Given the description of an element on the screen output the (x, y) to click on. 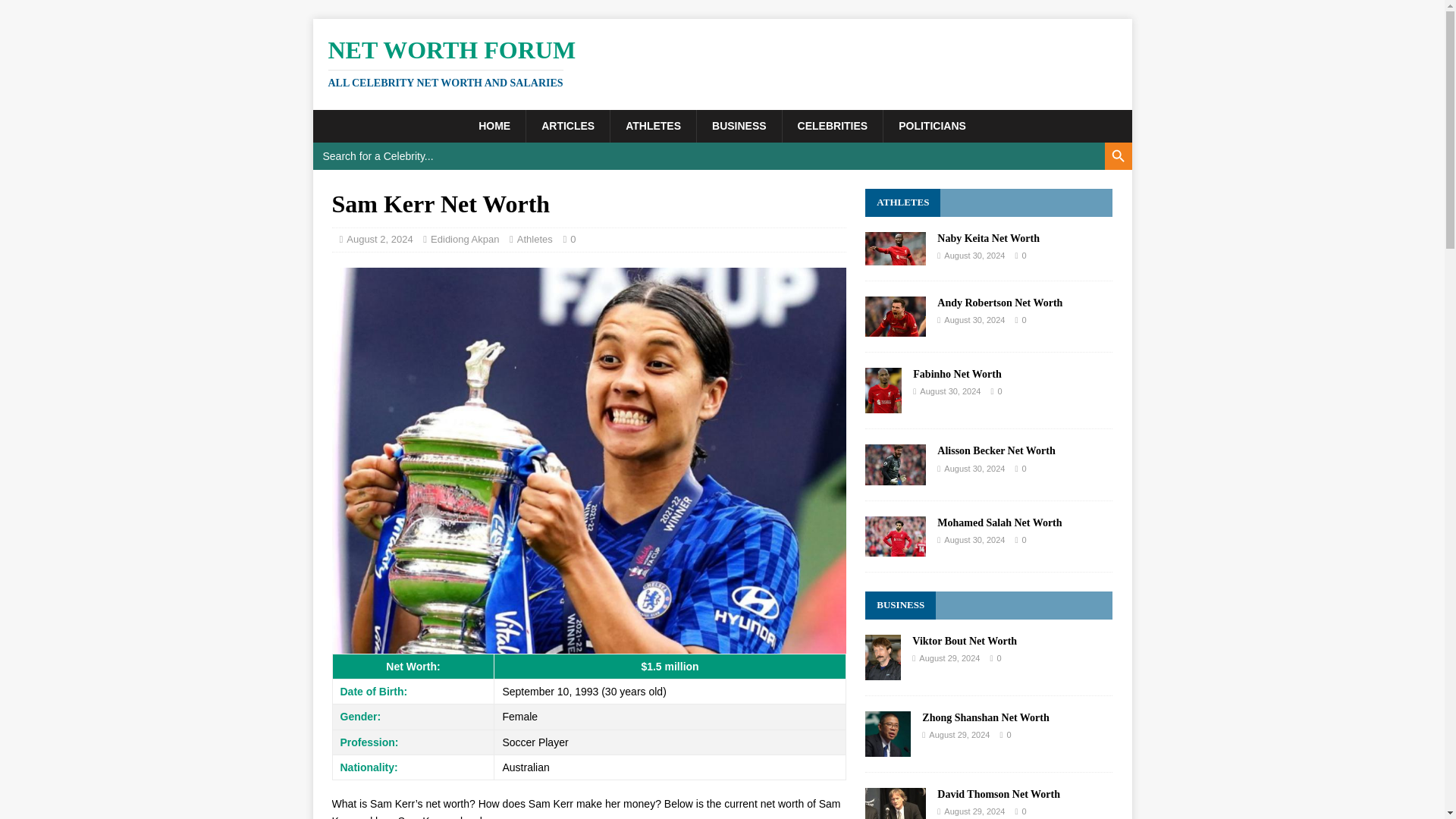
Naby Keita Net Worth (895, 256)
CELEBRITIES (832, 125)
Andy Robertson Net Worth (895, 328)
Athletes (534, 238)
Edidiong Akpan (464, 238)
Andy Robertson Net Worth (999, 302)
Mohamed Salah Net Worth (895, 548)
Search Button (721, 62)
Alisson Becker Net Worth (1117, 155)
